Given the description of an element on the screen output the (x, y) to click on. 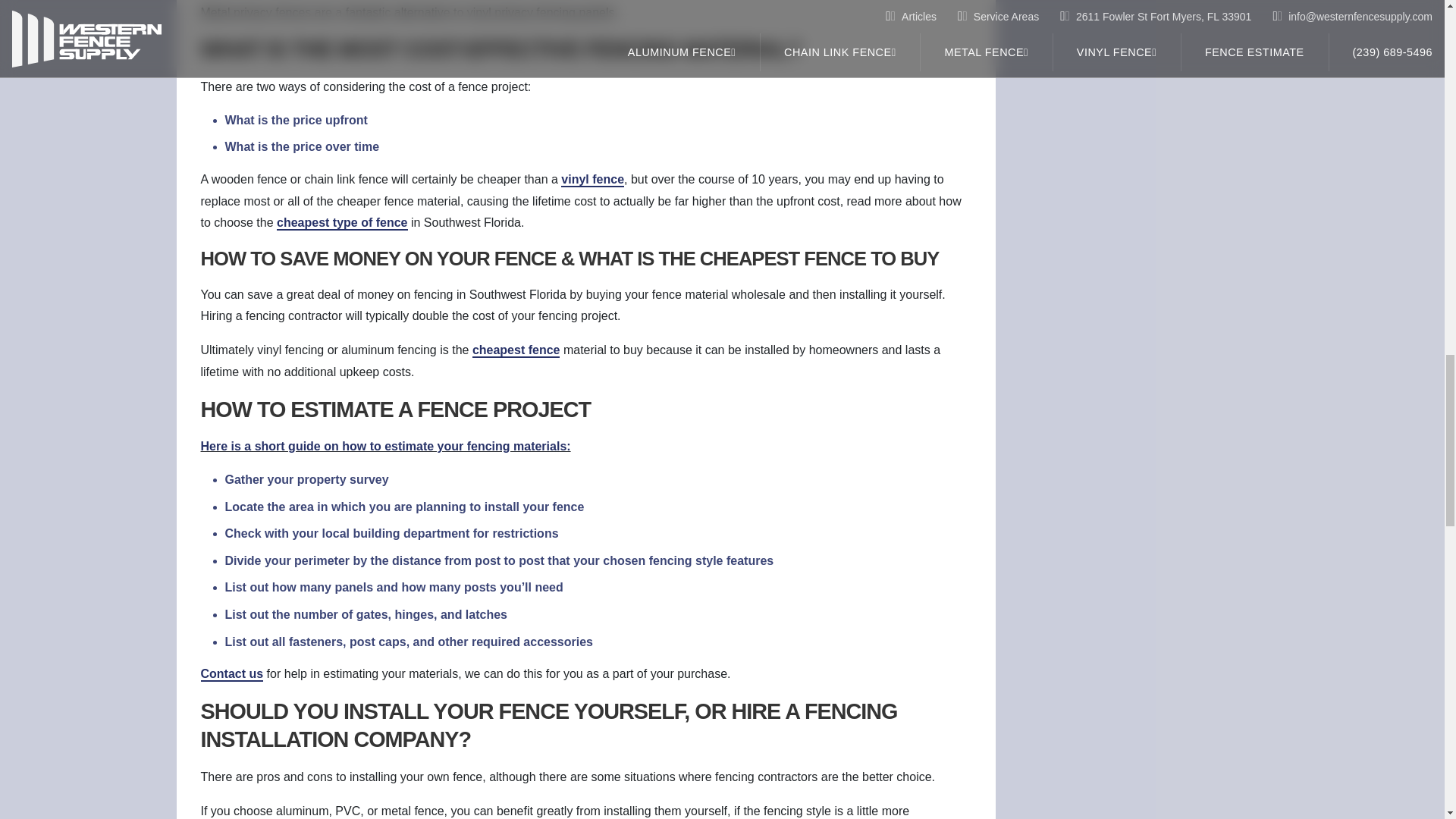
vinyl fence (592, 179)
Contact us (231, 674)
cheapest type of fence (341, 223)
cheapest fence (515, 350)
